Given the description of an element on the screen output the (x, y) to click on. 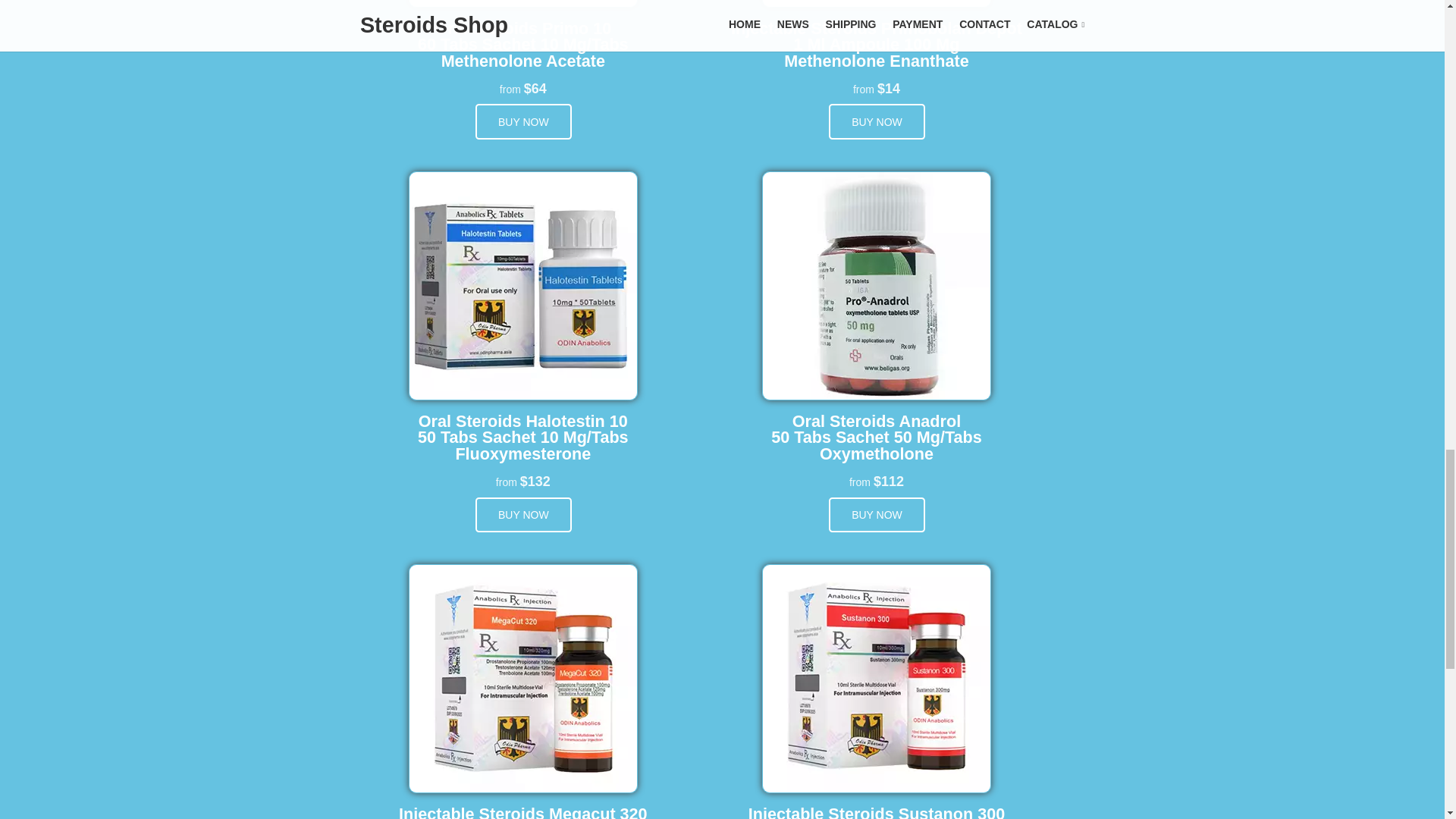
BUY NOW (876, 121)
BUY NOW (524, 515)
BUY NOW (524, 121)
BUY NOW (876, 515)
